Given the description of an element on the screen output the (x, y) to click on. 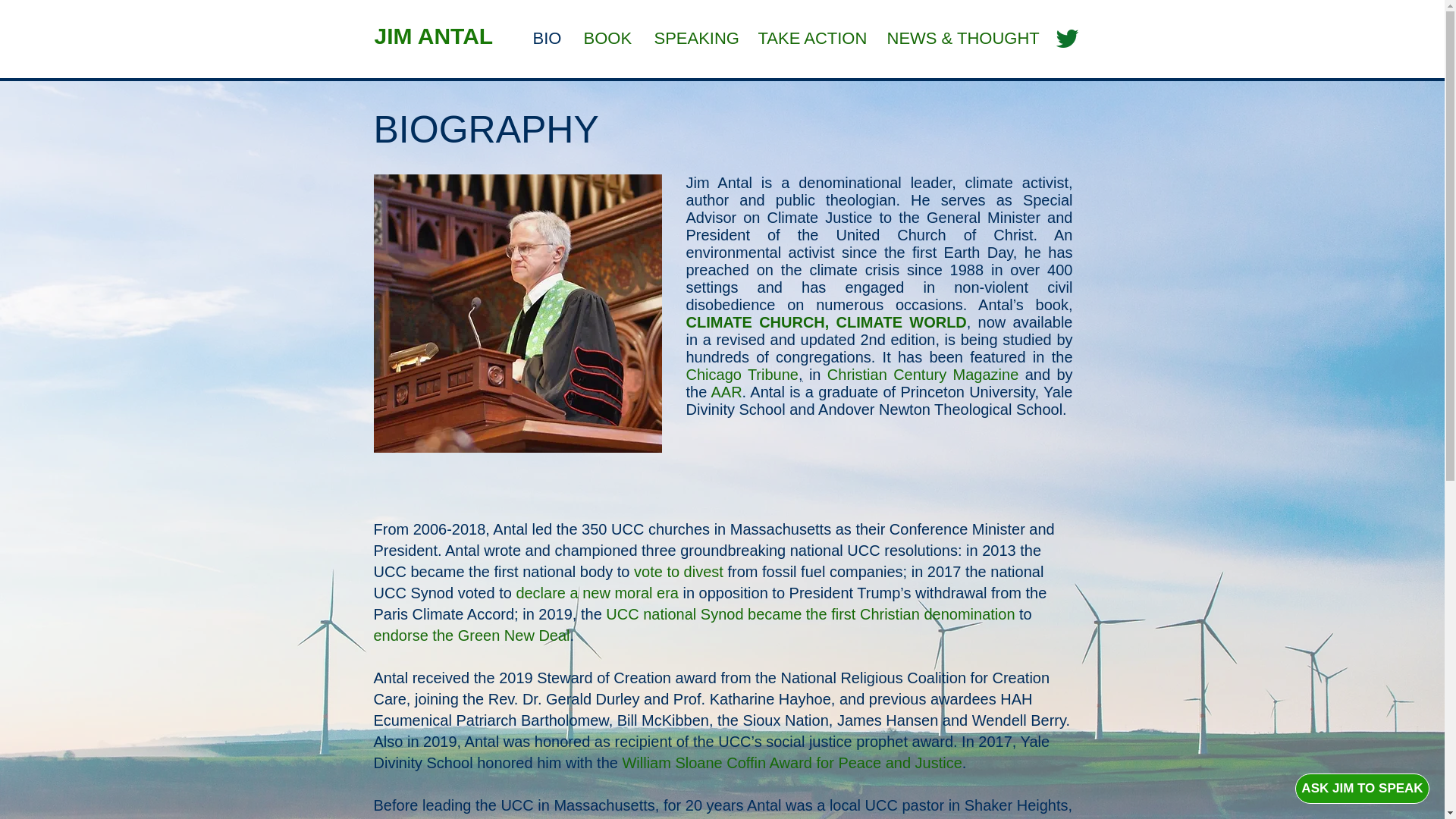
Christian Century Magazine (922, 374)
SPEAKING (694, 36)
AAR (725, 392)
UCC national Synod became the first Christian denomination (809, 614)
William Sloane Coffin Award for Peace and Justice (790, 762)
BIO (546, 36)
endorse the Green New Deal (470, 635)
ASK JIM TO SPEAK (1362, 788)
CLIMATE CHURCH, CLIMATE WORLD (825, 321)
declare a new moral era (596, 592)
